Given the description of an element on the screen output the (x, y) to click on. 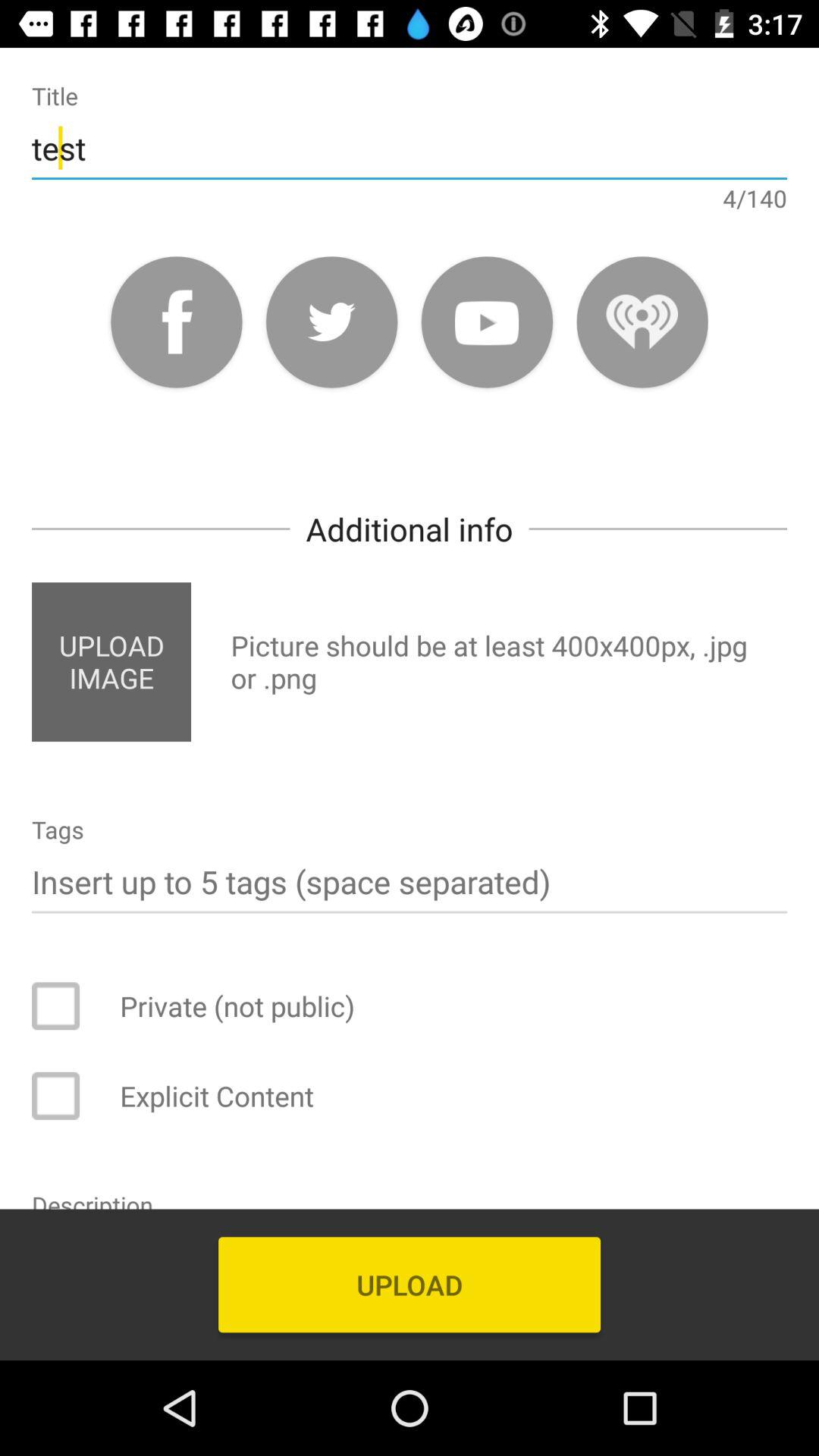
explain the content (65, 1095)
